Given the description of an element on the screen output the (x, y) to click on. 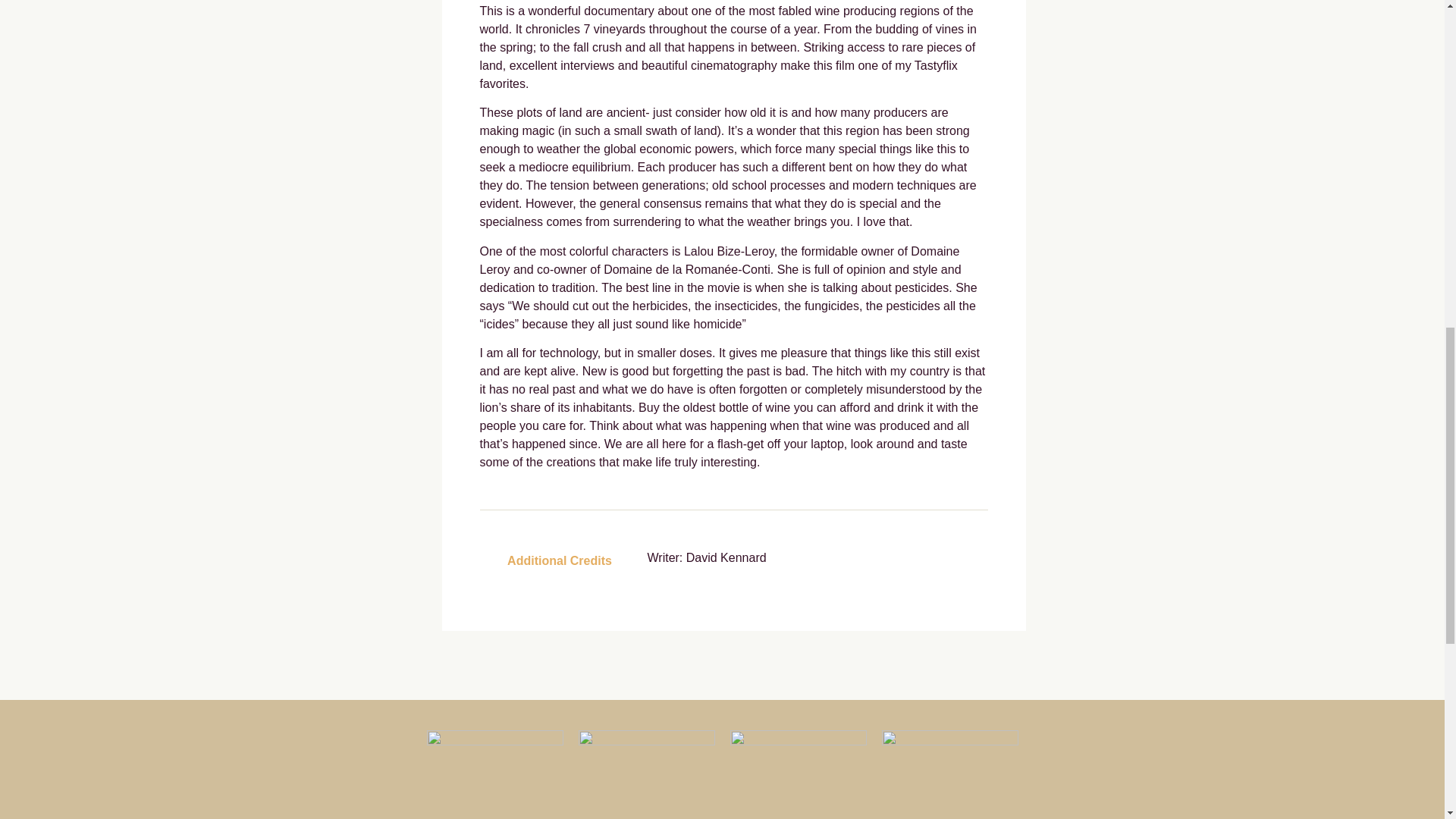
Eat Drink Man Woman (494, 740)
Sideways (797, 740)
Red Obsession (646, 740)
Sushi: The Global Catch (948, 740)
